Given the description of an element on the screen output the (x, y) to click on. 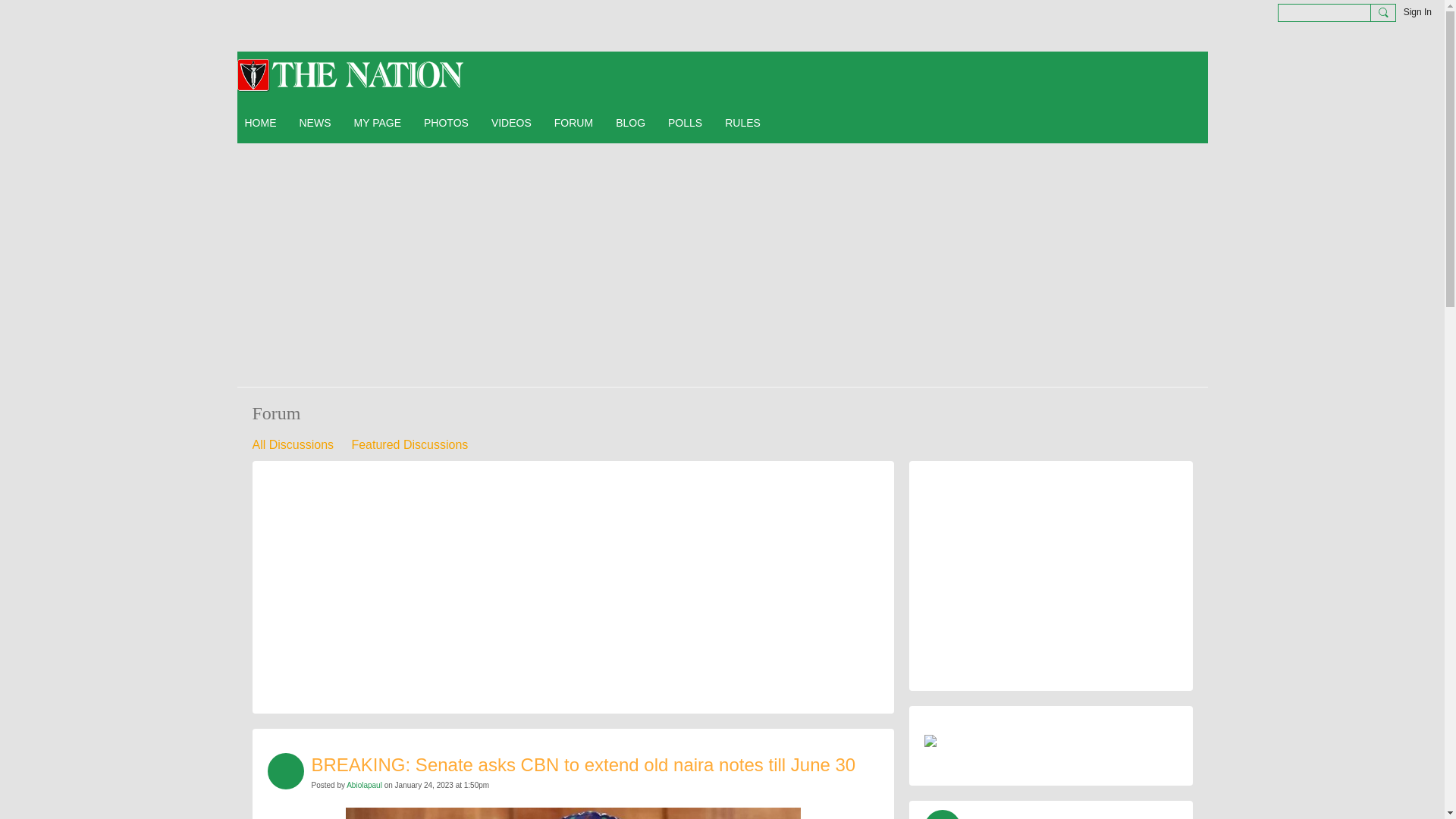
VIDEOS (510, 122)
RULES (742, 122)
NEWS (314, 122)
PHOTOS (446, 122)
Advertisement (1050, 570)
Sign In (1417, 12)
Abiolapaul (363, 785)
Featured Discussions (408, 445)
BLOG (630, 122)
Advertisement (571, 581)
All Discussions (292, 445)
MY PAGE (377, 122)
POLLS (685, 122)
